Given the description of an element on the screen output the (x, y) to click on. 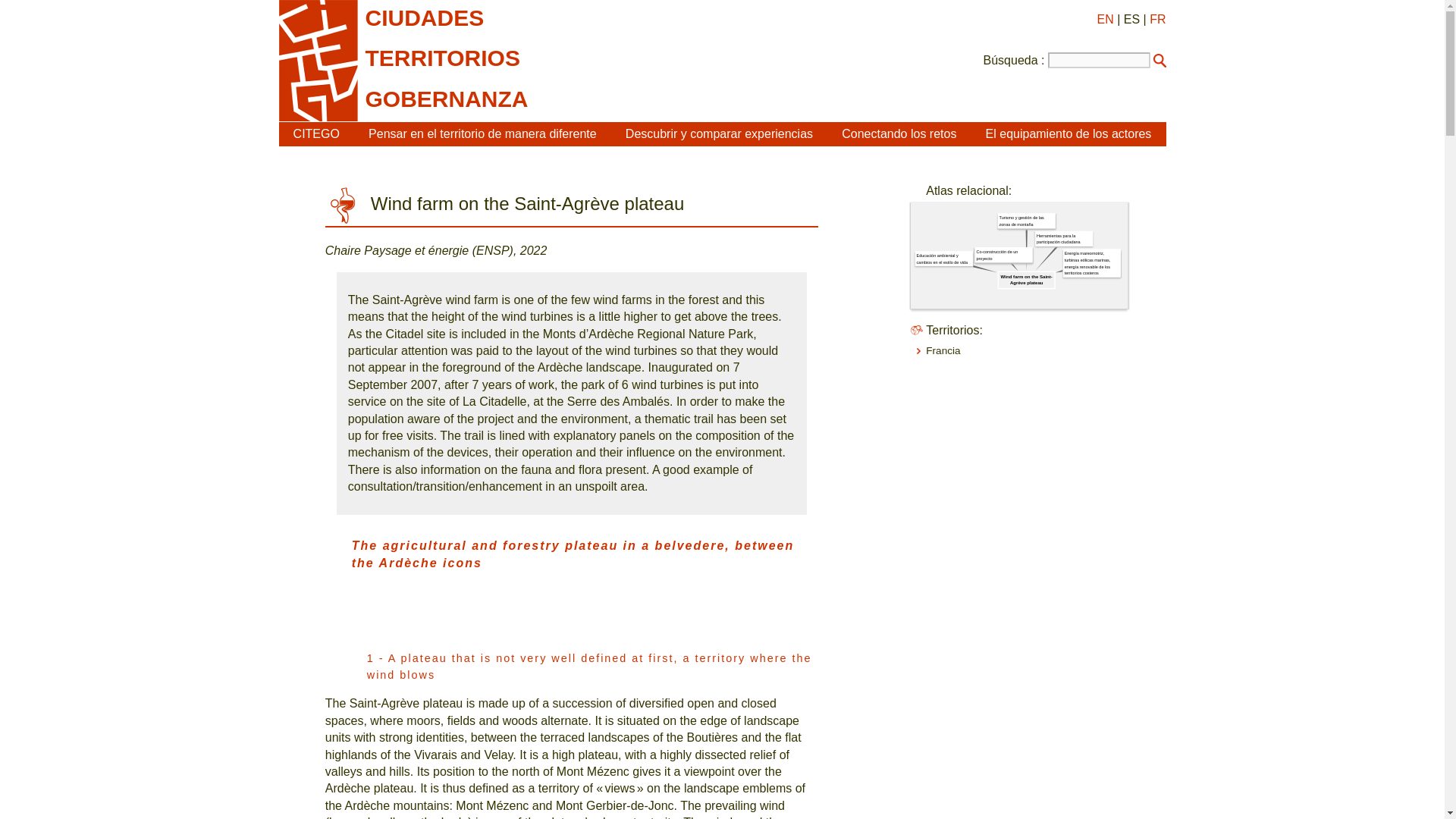
El equipamiento de los actores (1068, 133)
EN (1104, 19)
CITEGO (316, 133)
FR (1158, 19)
Francia (942, 350)
Descubrir y comparar experiencias (719, 133)
Pensar en el territorio de manera diferente (482, 133)
Conectando los retos (898, 133)
